Given the description of an element on the screen output the (x, y) to click on. 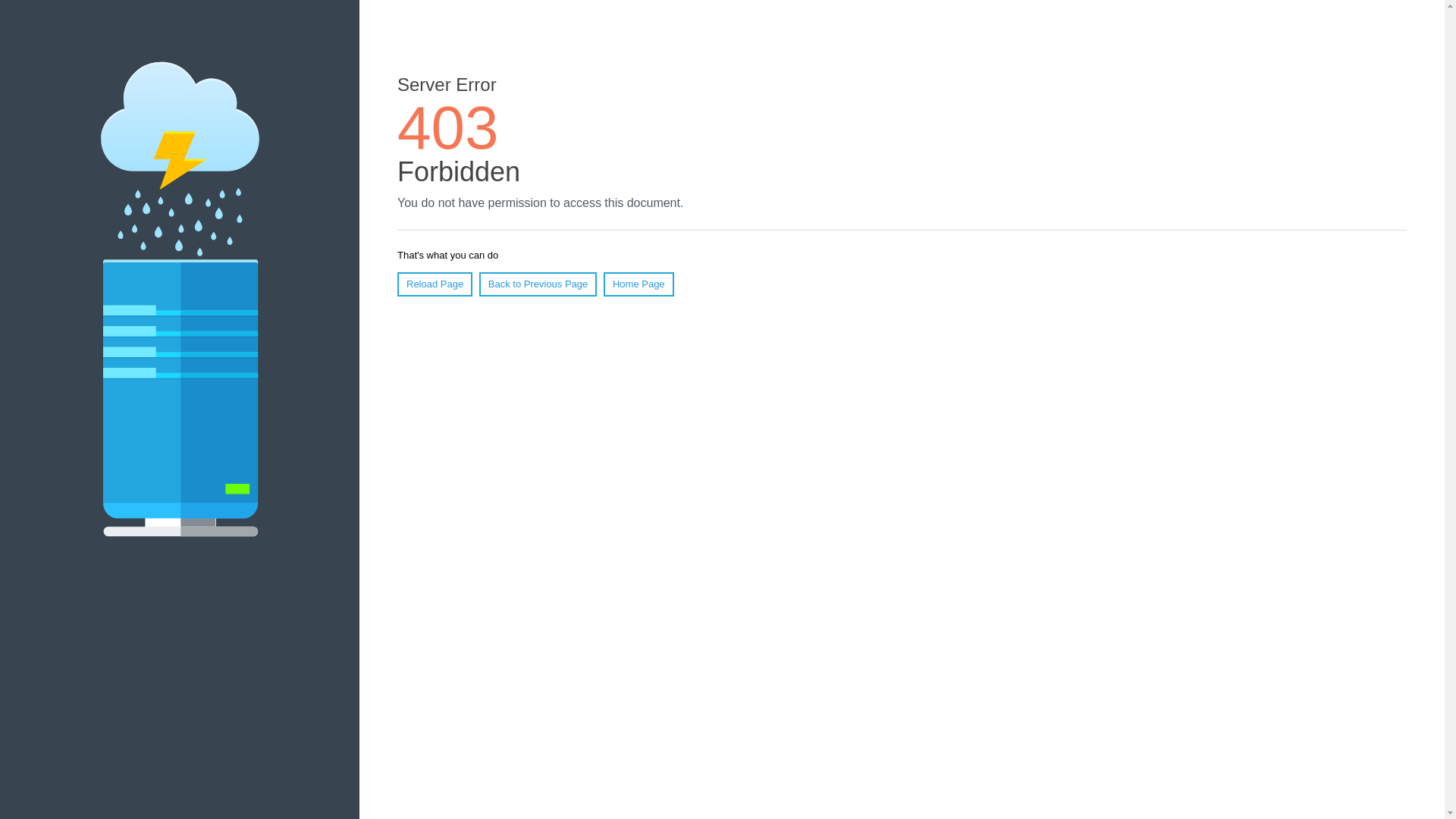
Home Page Element type: text (638, 284)
Reload Page Element type: text (434, 284)
Back to Previous Page Element type: text (538, 284)
